Given the description of an element on the screen output the (x, y) to click on. 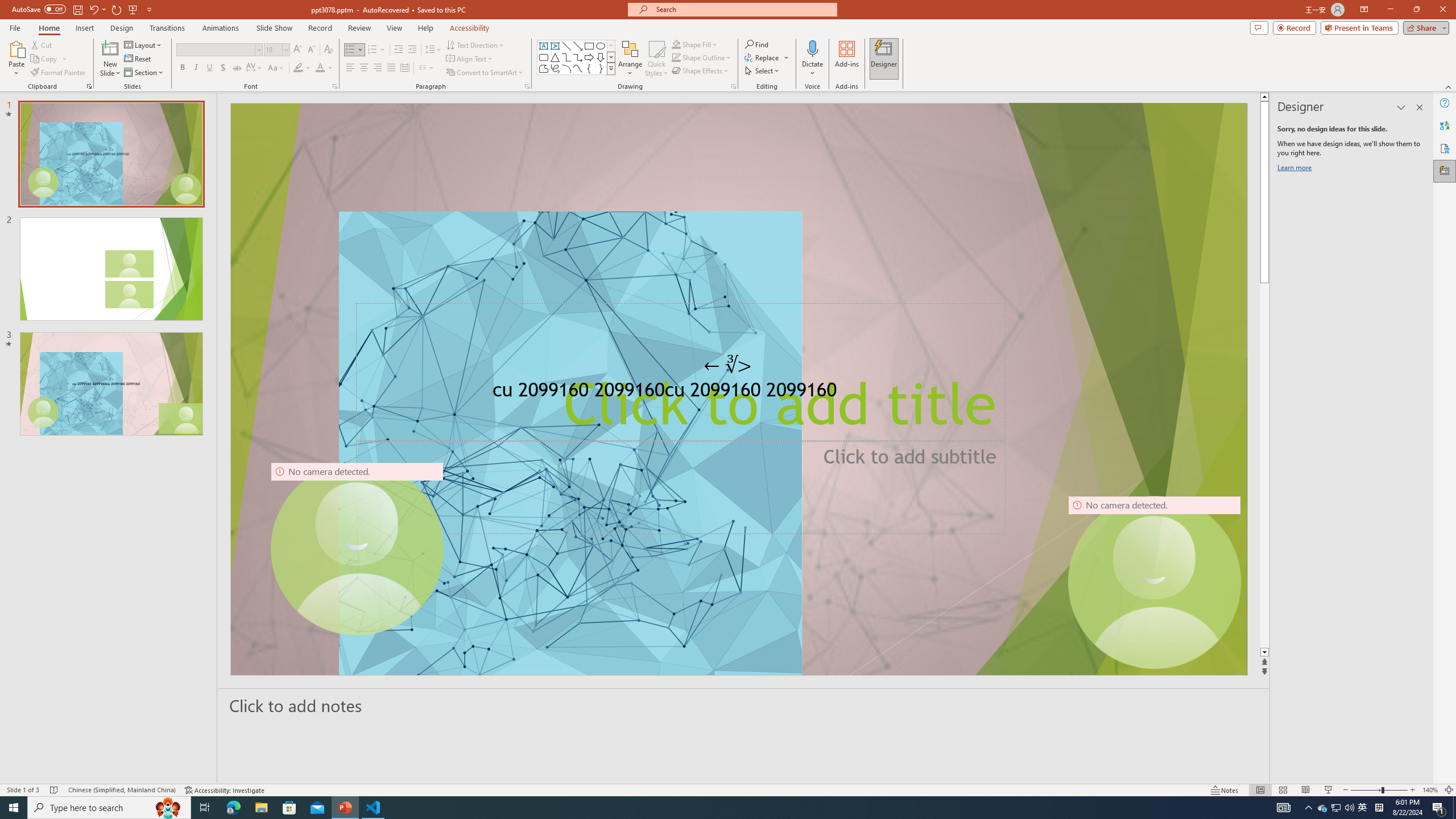
Camera 16, No camera detected. (1154, 582)
